Given the description of an element on the screen output the (x, y) to click on. 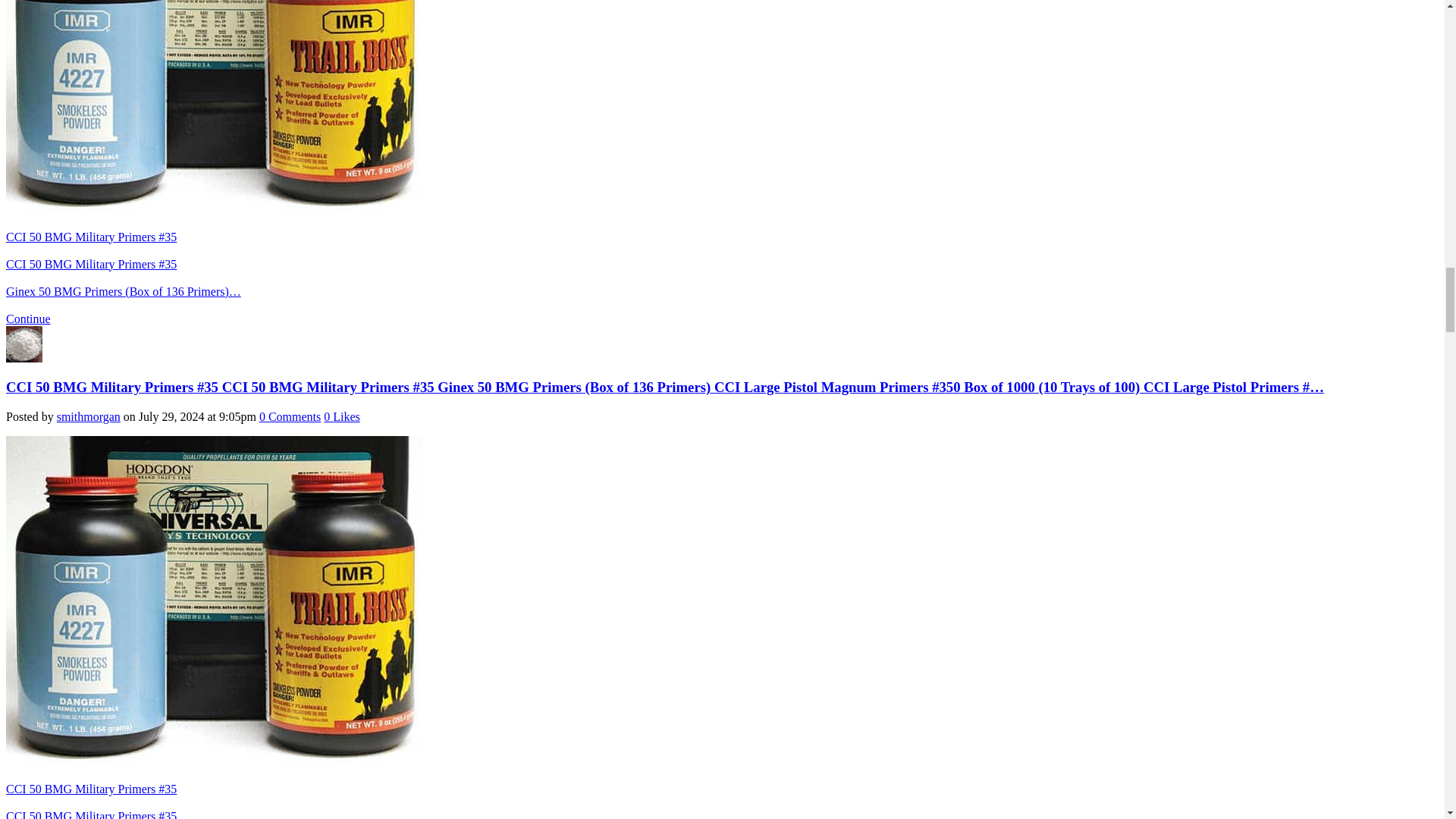
smithmorgan (23, 358)
